Given the description of an element on the screen output the (x, y) to click on. 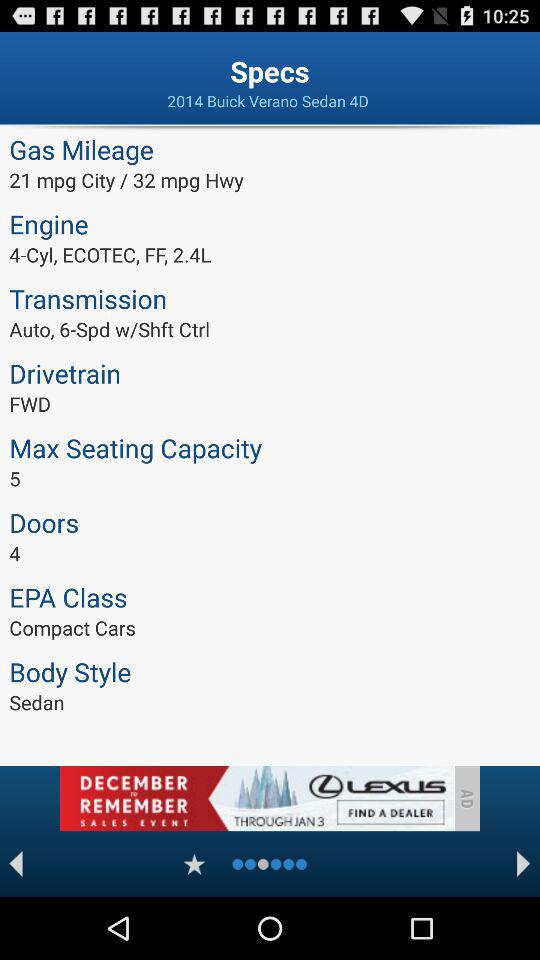
forwad (523, 864)
